Given the description of an element on the screen output the (x, y) to click on. 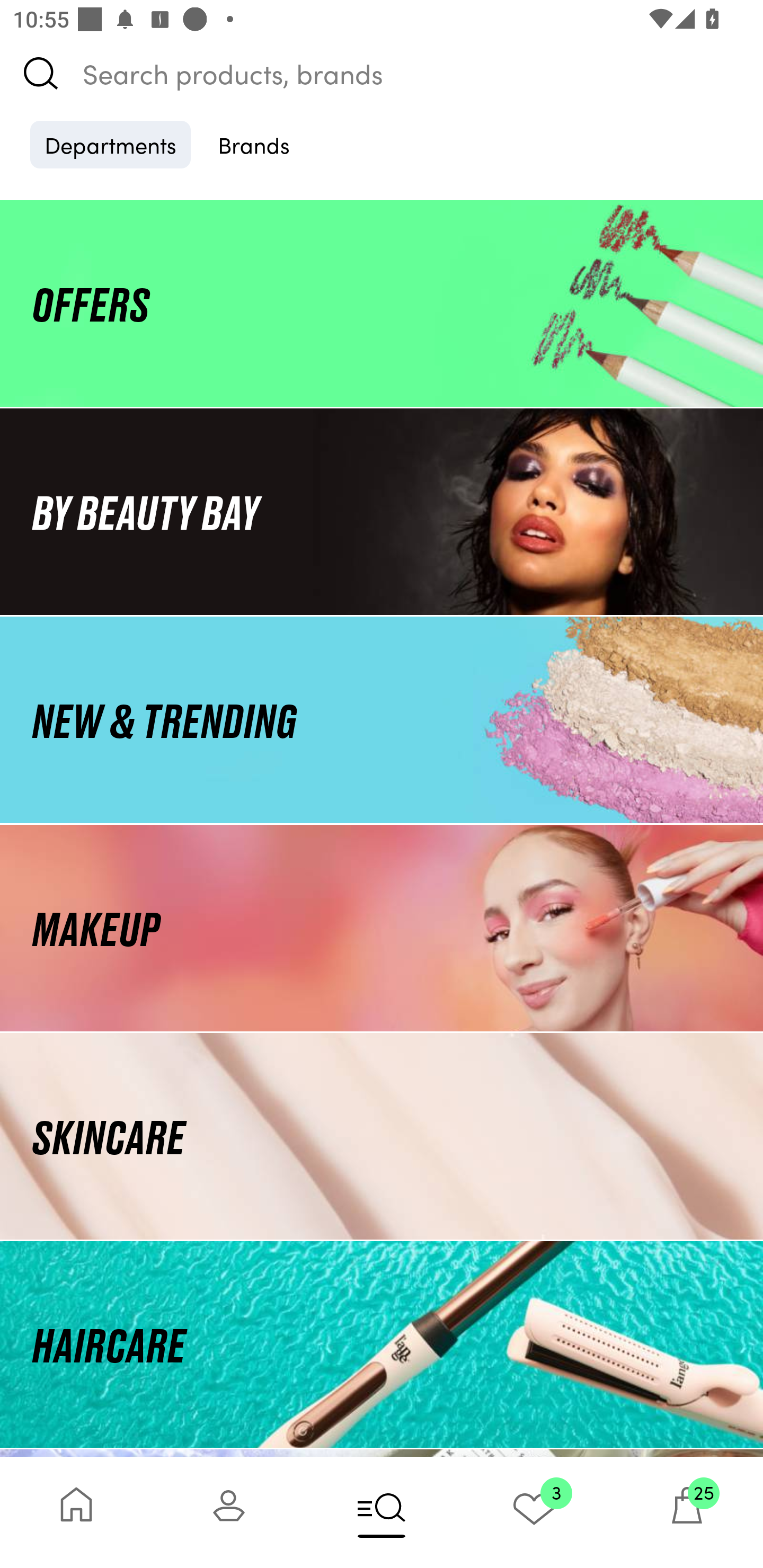
Search products, brands (381, 72)
Departments (110, 143)
Brands (253, 143)
OFFERS (381, 303)
BY BEAUTY BAY (381, 510)
NEW & TRENDING (381, 719)
MAKEUP (381, 927)
SKINCARE (381, 1136)
HAIRCARE (381, 1344)
3 (533, 1512)
25 (686, 1512)
